Given the description of an element on the screen output the (x, y) to click on. 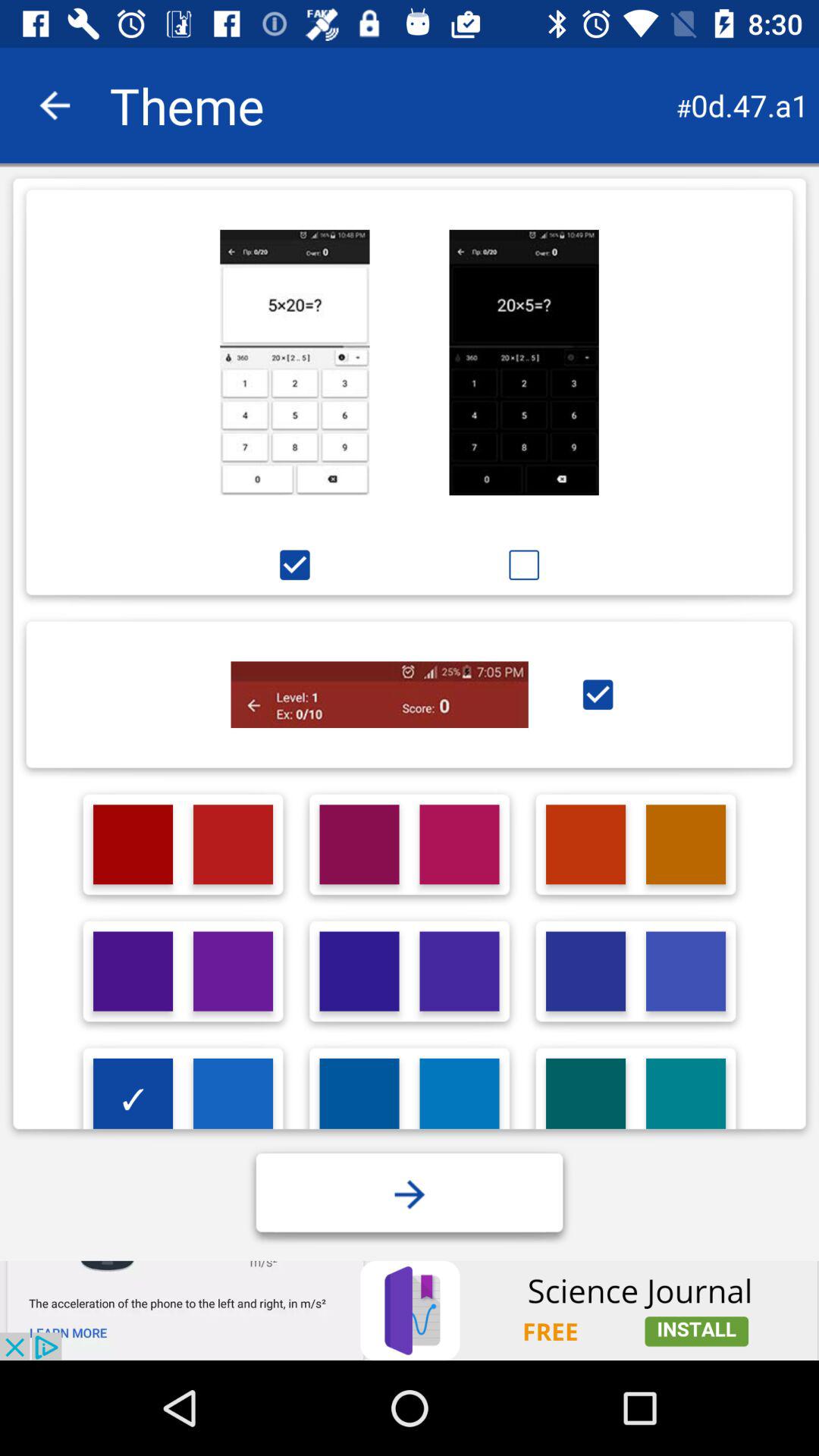
click on the option below the first image (294, 565)
second row second column color box at the bottom (232, 971)
click on 1st red box (132, 844)
click on the bottom blue button (409, 1194)
option below second image (524, 565)
